Given the description of an element on the screen output the (x, y) to click on. 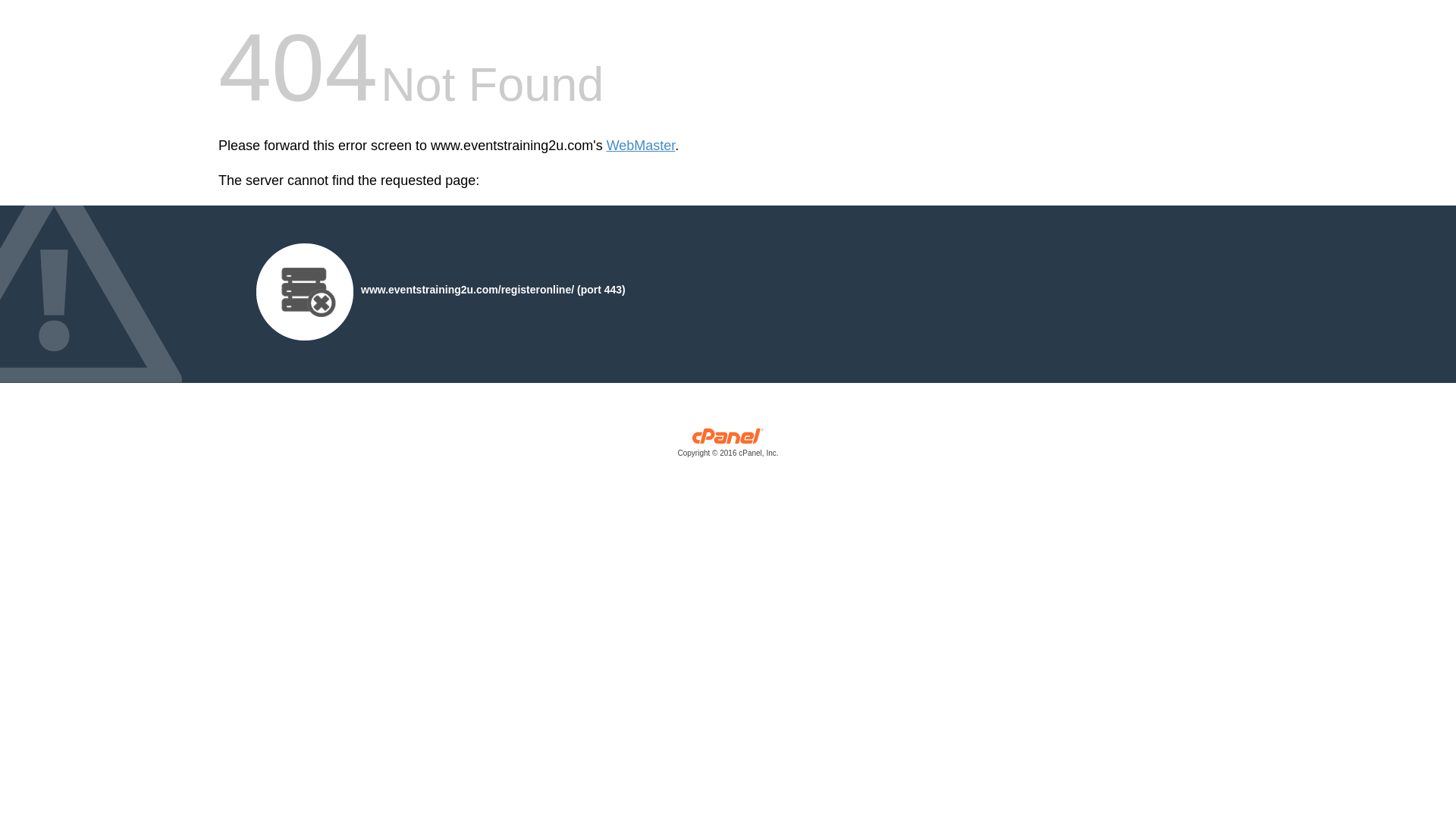
WebMaster (641, 145)
cPanel, Inc. (727, 446)
